Given the description of an element on the screen output the (x, y) to click on. 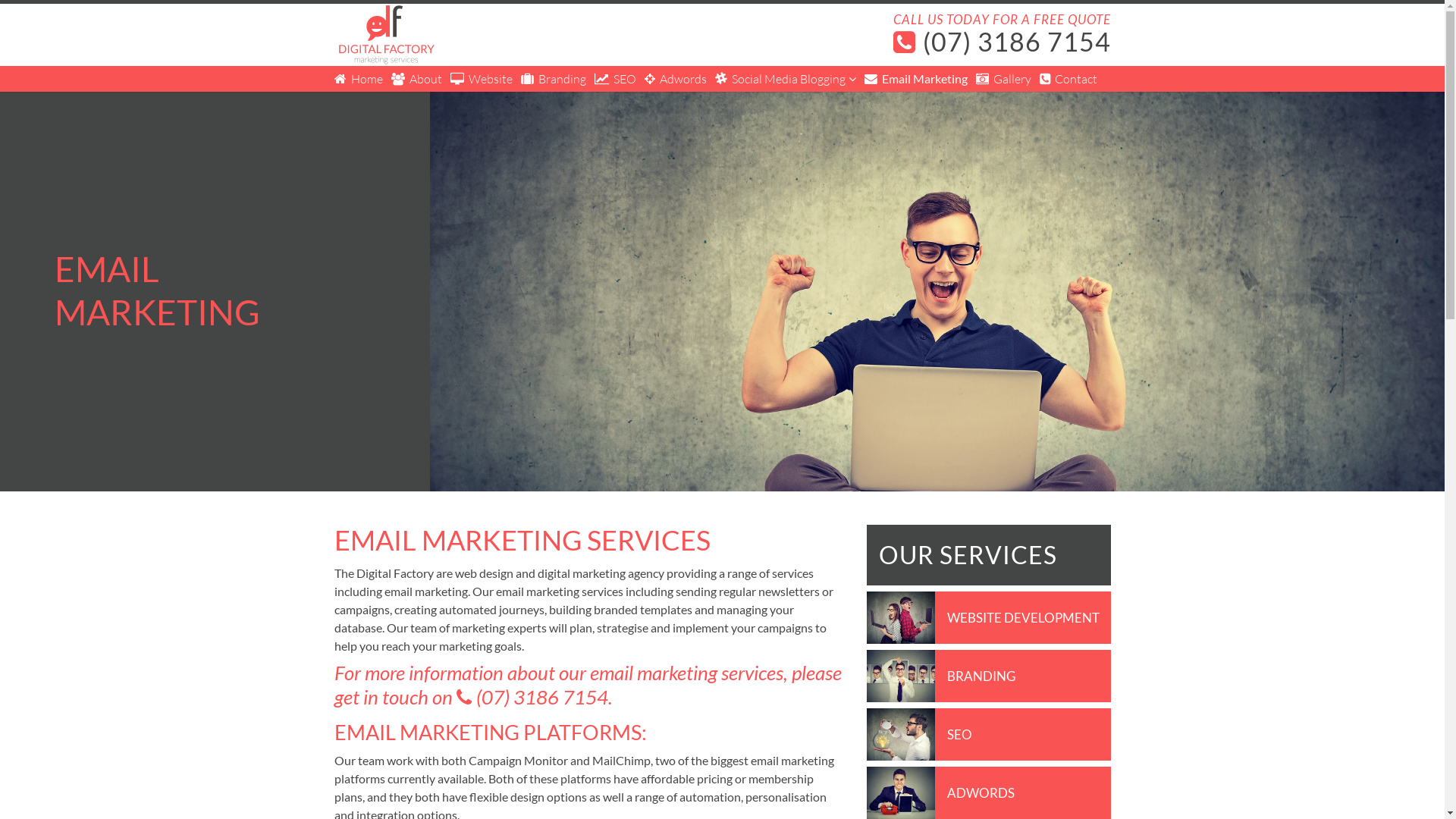
ADWORDS Element type: text (980, 792)
Home Element type: text (357, 78)
(07) 3186 7154 Element type: text (1001, 41)
(07) 3186 7154 Element type: text (532, 697)
WEBSITE DEVELOPMENT Element type: text (1023, 617)
SEO Element type: text (615, 78)
Adwords Element type: text (675, 78)
About Element type: text (416, 78)
Email Marketing Element type: text (915, 78)
Gallery Element type: text (1002, 78)
Website Element type: text (481, 78)
Social Media Blogging Element type: text (784, 78)
Branding Element type: text (552, 78)
SEO Element type: text (959, 734)
BRANDING Element type: text (981, 676)
Contact Element type: text (1067, 78)
